Given the description of an element on the screen output the (x, y) to click on. 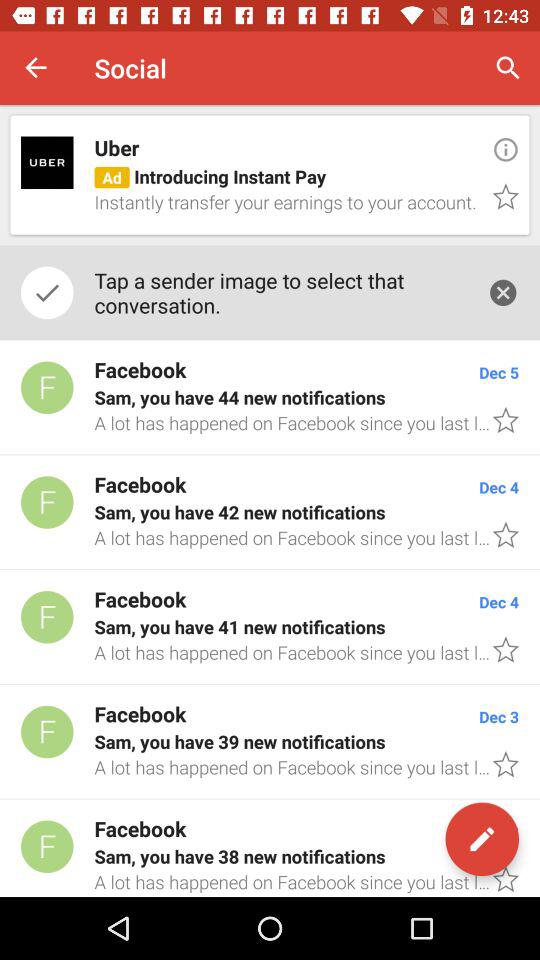
launch the item to the left of social (36, 68)
